Given the description of an element on the screen output the (x, y) to click on. 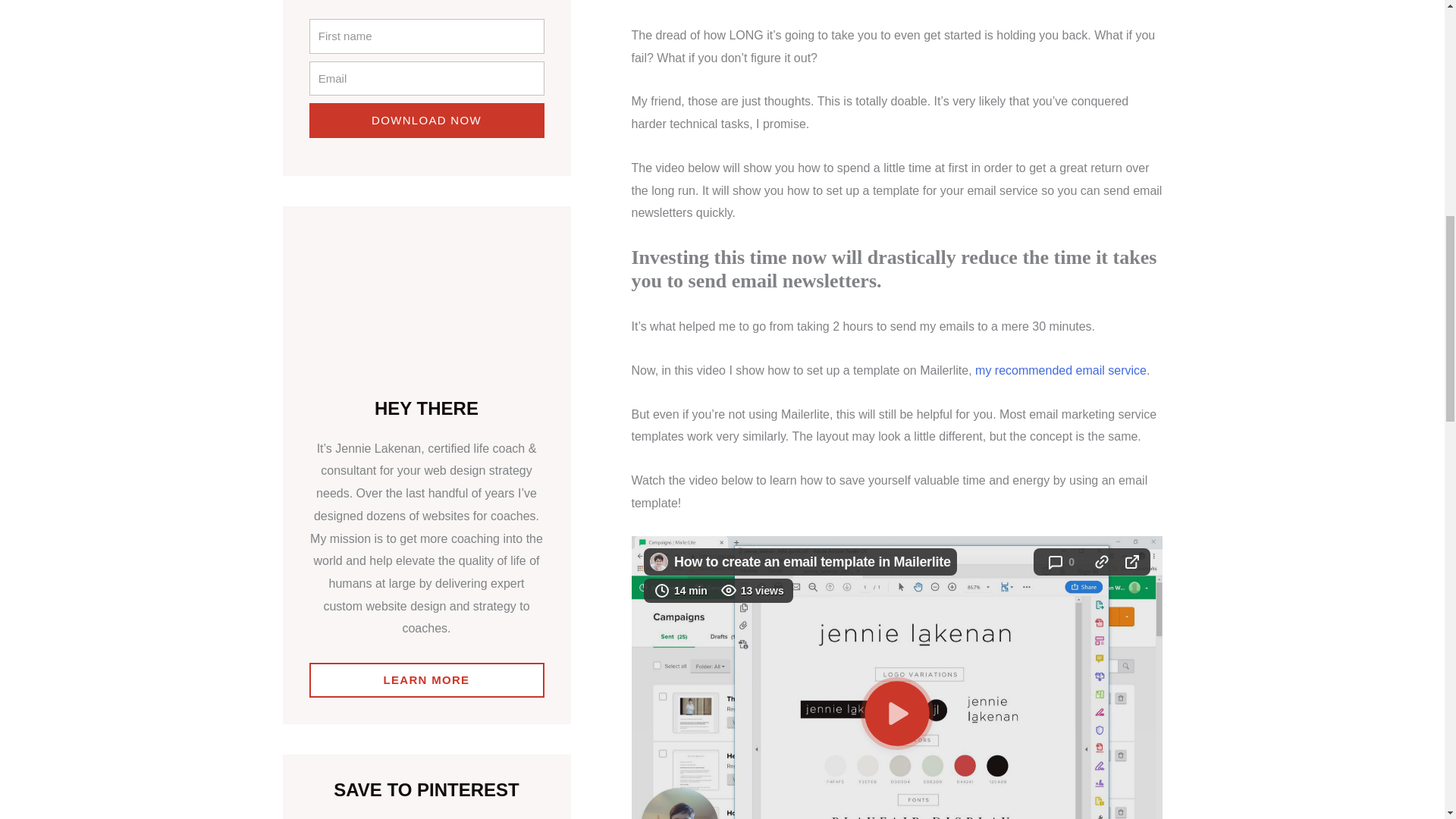
LEARN MORE (426, 679)
DOWNLOAD NOW (426, 120)
my recommended email service (1061, 369)
